Given the description of an element on the screen output the (x, y) to click on. 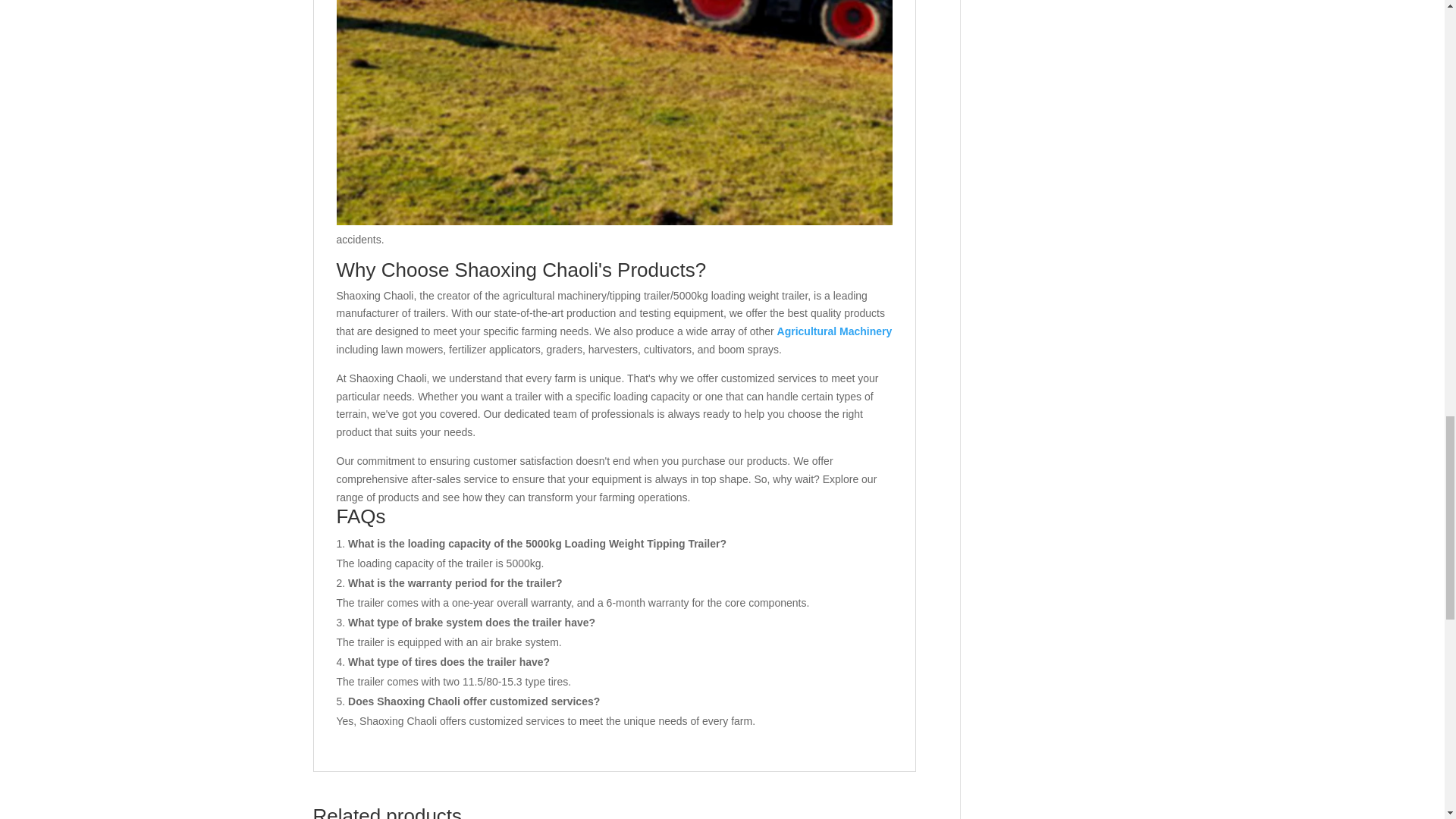
Agricultural Machinery (834, 331)
